Given the description of an element on the screen output the (x, y) to click on. 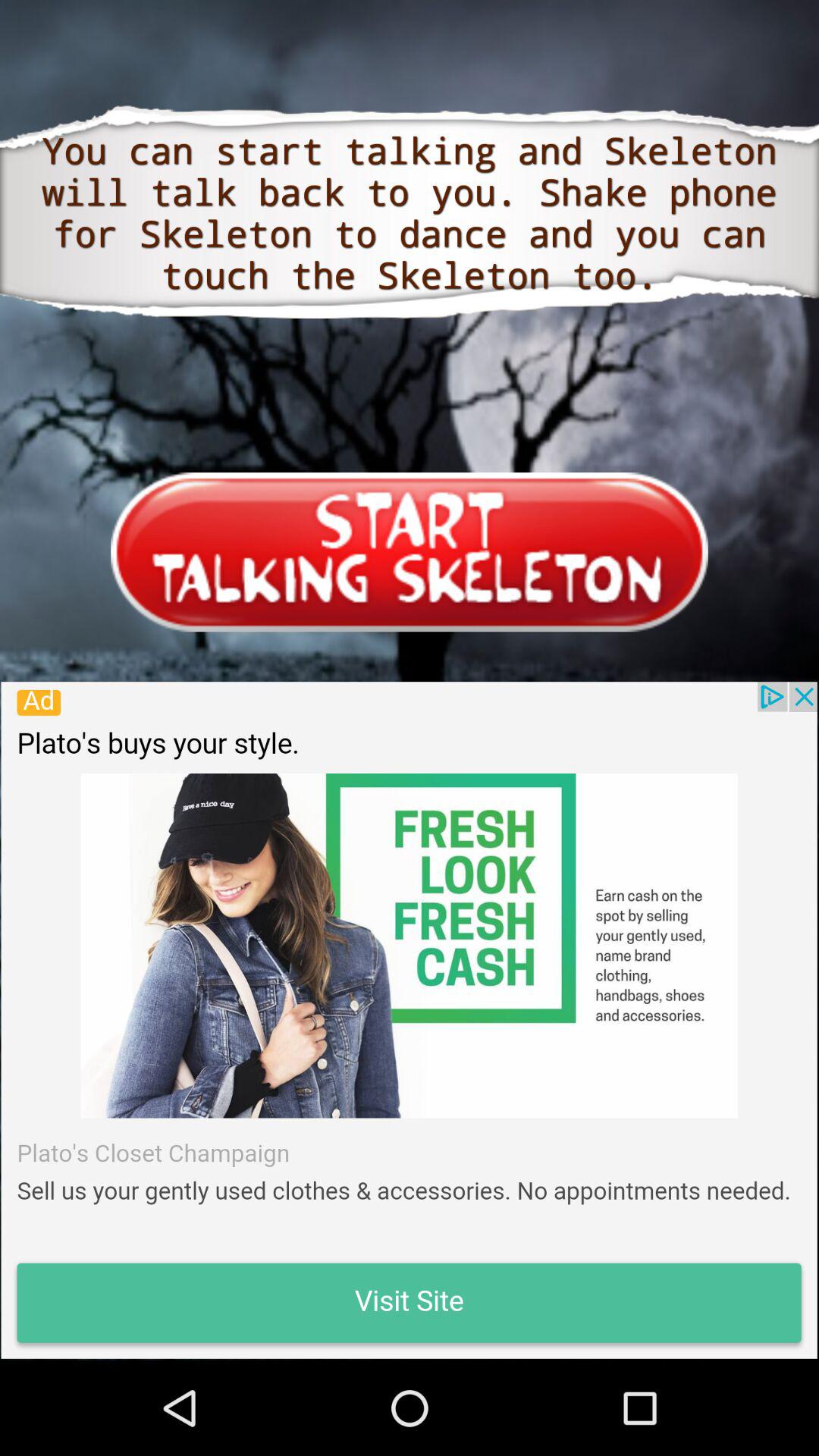
start talking skeleton (409, 552)
